Given the description of an element on the screen output the (x, y) to click on. 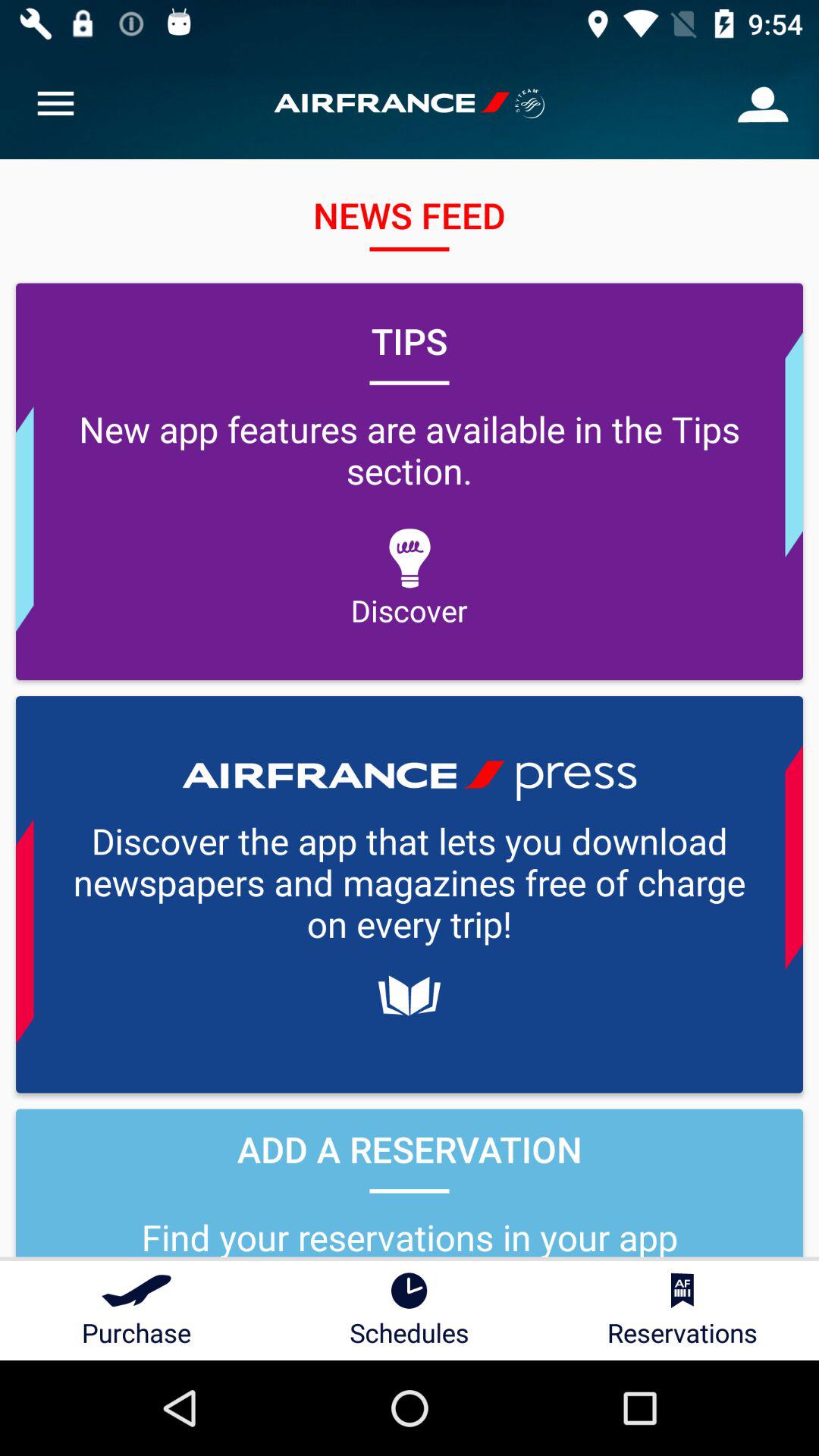
tap item at the top left corner (55, 103)
